Given the description of an element on the screen output the (x, y) to click on. 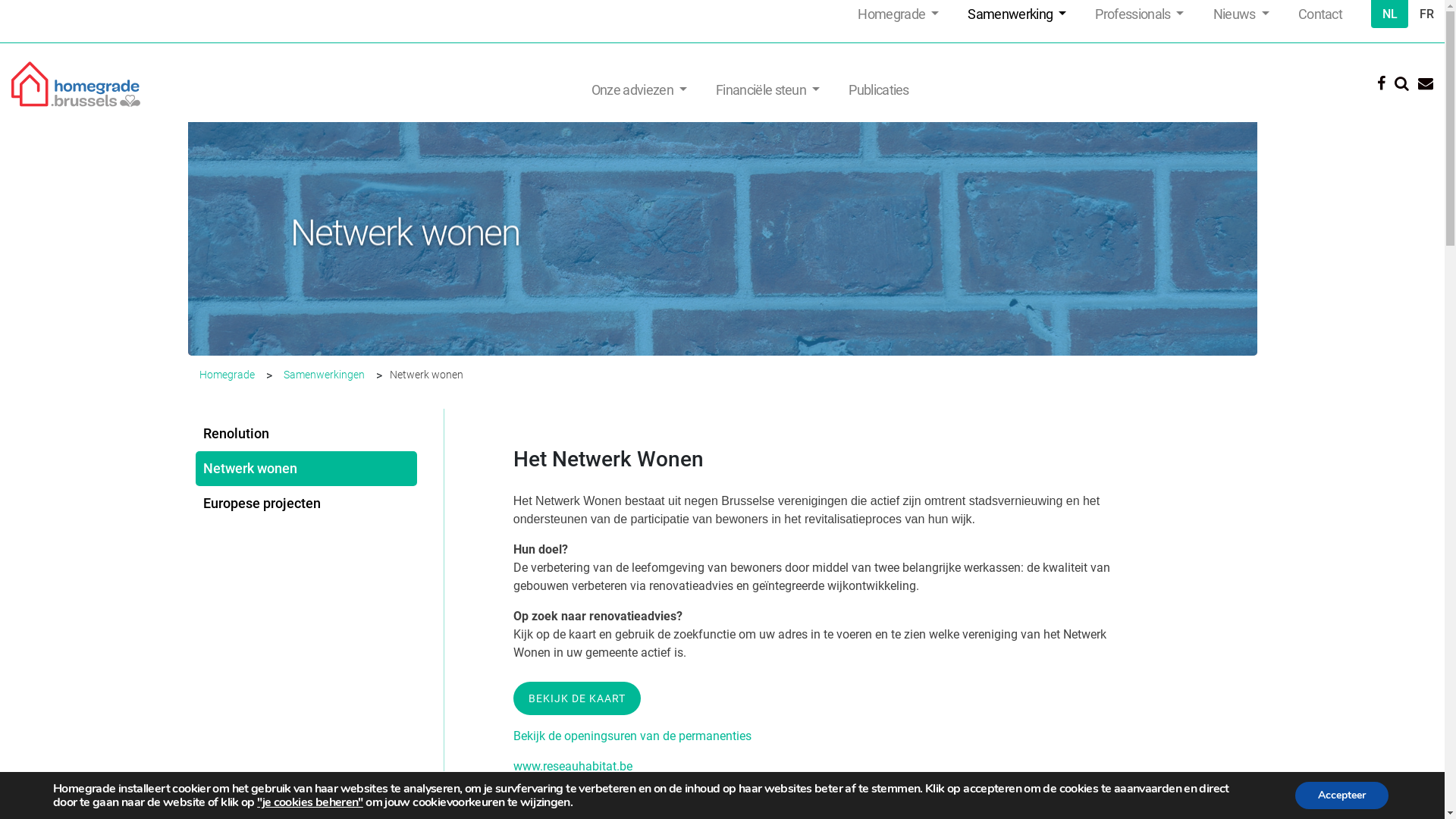
Renolution Element type: text (310, 433)
NL Element type: text (1389, 14)
Samenwerkingen Element type: text (324, 374)
Accepteer Element type: text (1341, 795)
Netwerk wonen Element type: text (306, 468)
Professionals Element type: text (1139, 13)
BEKIJK DE KAART Element type: text (576, 698)
www.reseauhabitat.be Element type: text (572, 766)
Contact Element type: text (1320, 13)
"je cookies beheren" Element type: text (310, 802)
Homegrade Element type: text (897, 13)
FR Element type: text (1426, 14)
Nieuws Element type: text (1241, 13)
Homegrade Element type: text (226, 374)
Europese projecten Element type: text (310, 503)
Bekijk de openingsuren van de permanenties Element type: text (632, 735)
Onze adviezen Element type: text (639, 89)
Publicaties Element type: text (878, 89)
Samenwerking Element type: text (1016, 13)
